Given the description of an element on the screen output the (x, y) to click on. 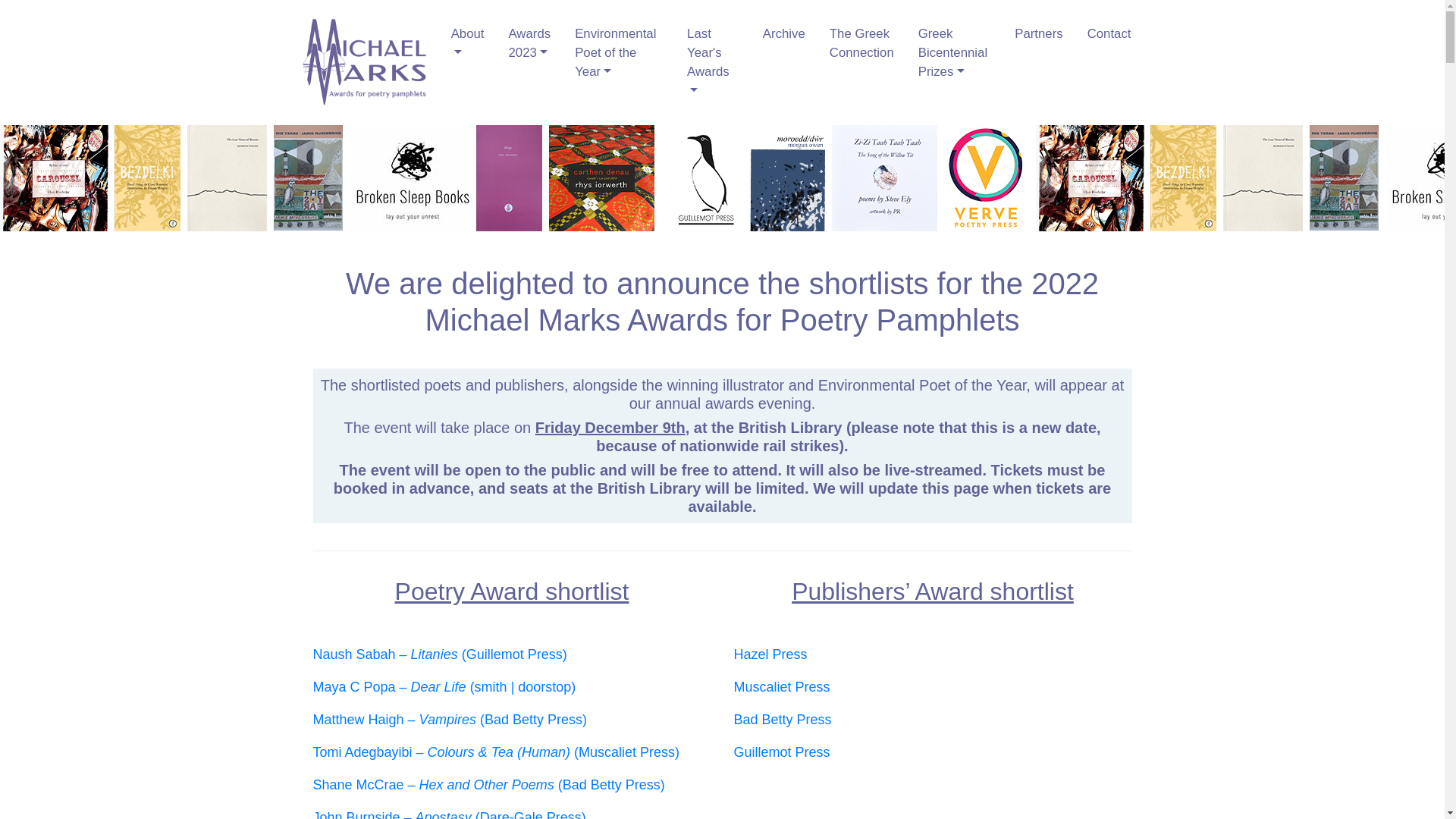
Partners (1038, 33)
About (467, 42)
Archive (783, 33)
Awards 2023 (529, 42)
Environmental Poet of the Year (618, 52)
The Greek Connection (860, 42)
Michael Marks Awards (530, 76)
Greek Bicentennial Prizes (954, 52)
Contact (1108, 33)
